Given the description of an element on the screen output the (x, y) to click on. 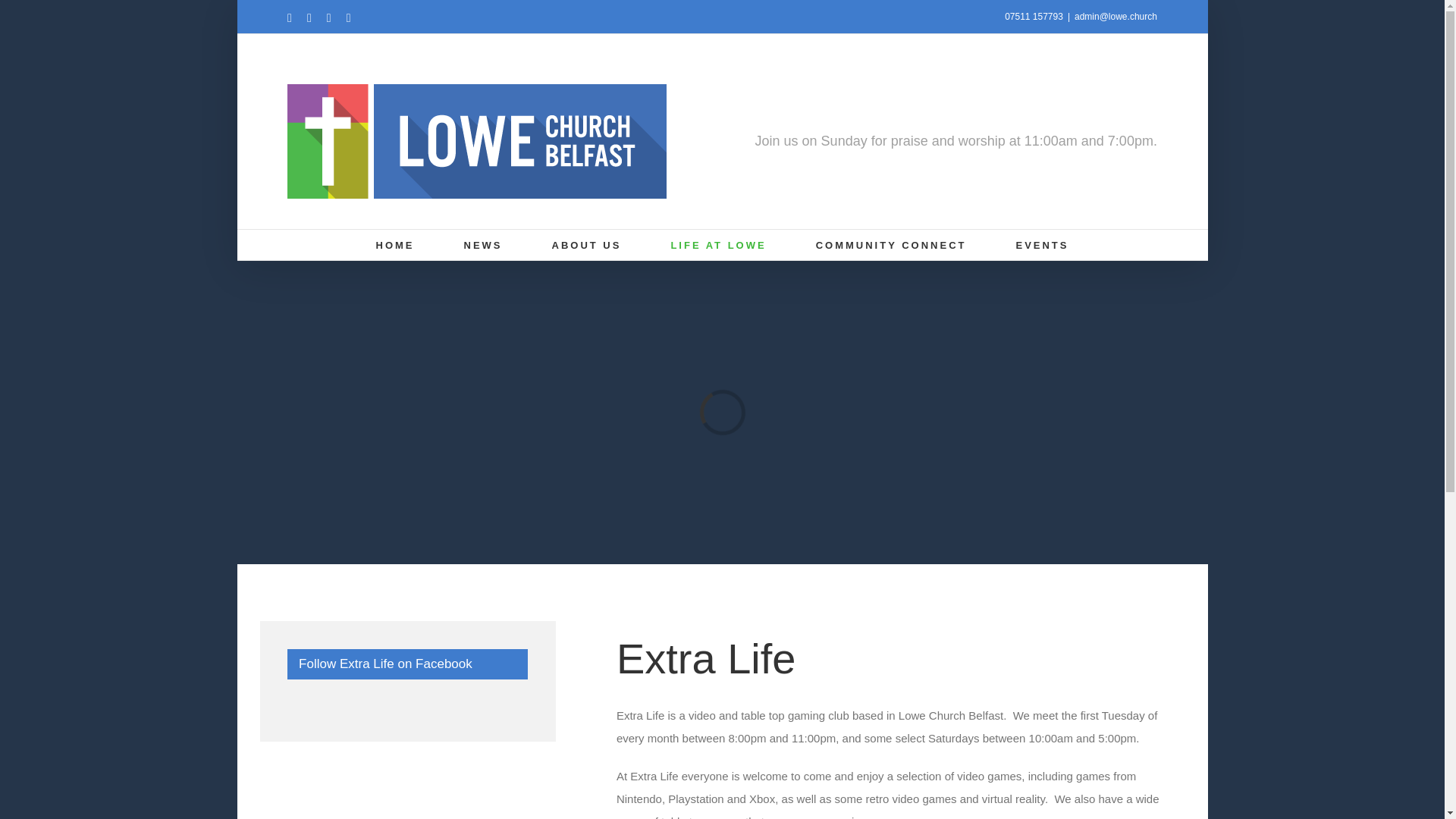
LIFE AT LOWE (717, 245)
COMMUNITY CONNECT (890, 245)
EVENTS (1041, 245)
NEWS (483, 245)
ABOUT US (586, 245)
HOME (394, 245)
